Given the description of an element on the screen output the (x, y) to click on. 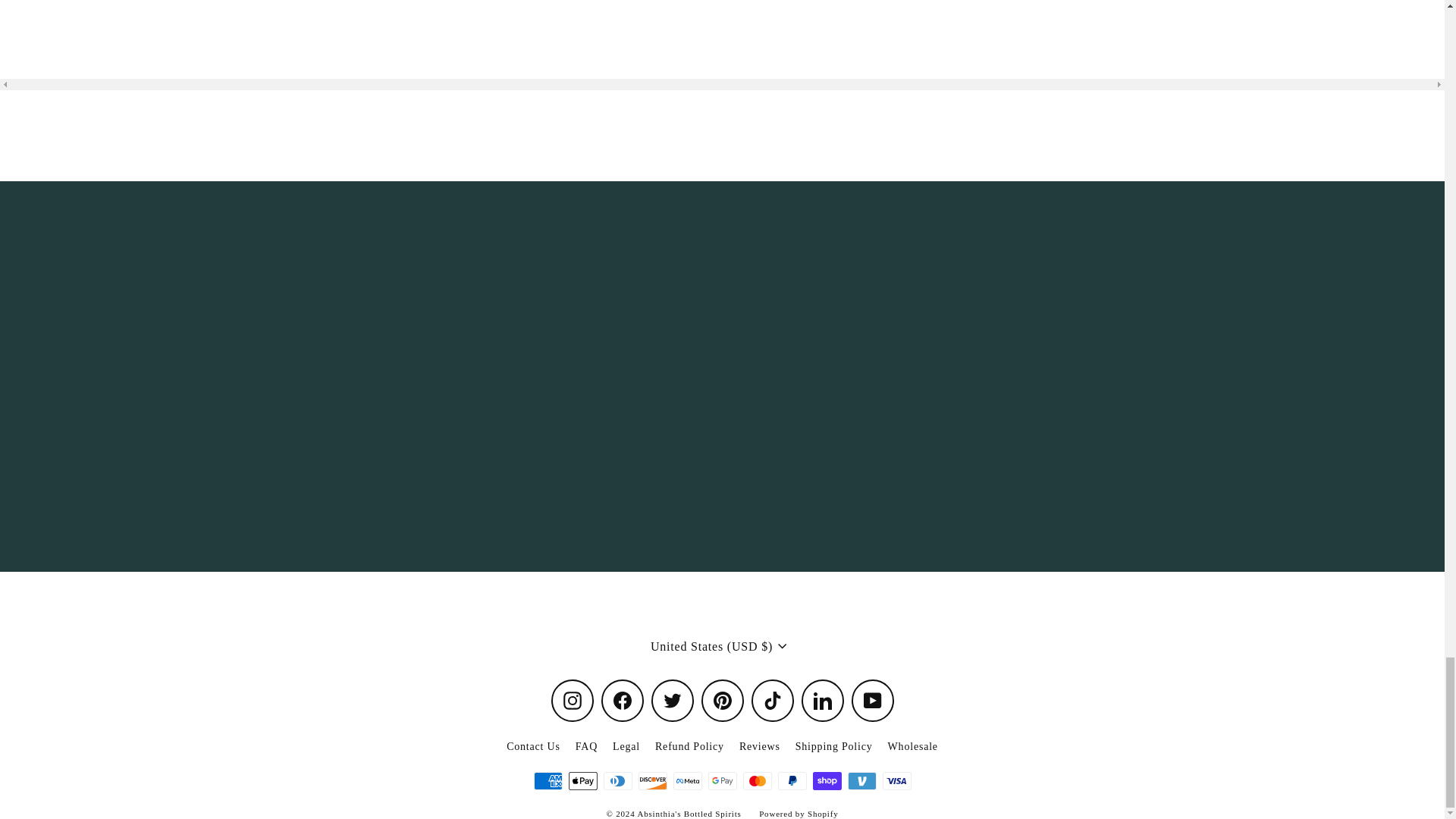
Absinthia's Bottled Spirits on Facebook (621, 700)
Meta Pay (686, 781)
Absinthia's Bottled Spirits on LinkedIn (821, 700)
American Express (548, 781)
Absinthia's Bottled Spirits on Pinterest (721, 700)
Apple Pay (582, 781)
Absinthia's Bottled Spirits on YouTube (871, 700)
Absinthia's Bottled Spirits on Twitter (671, 700)
Absinthia's Bottled Spirits on Instagram (571, 700)
Discover (652, 781)
